Given the description of an element on the screen output the (x, y) to click on. 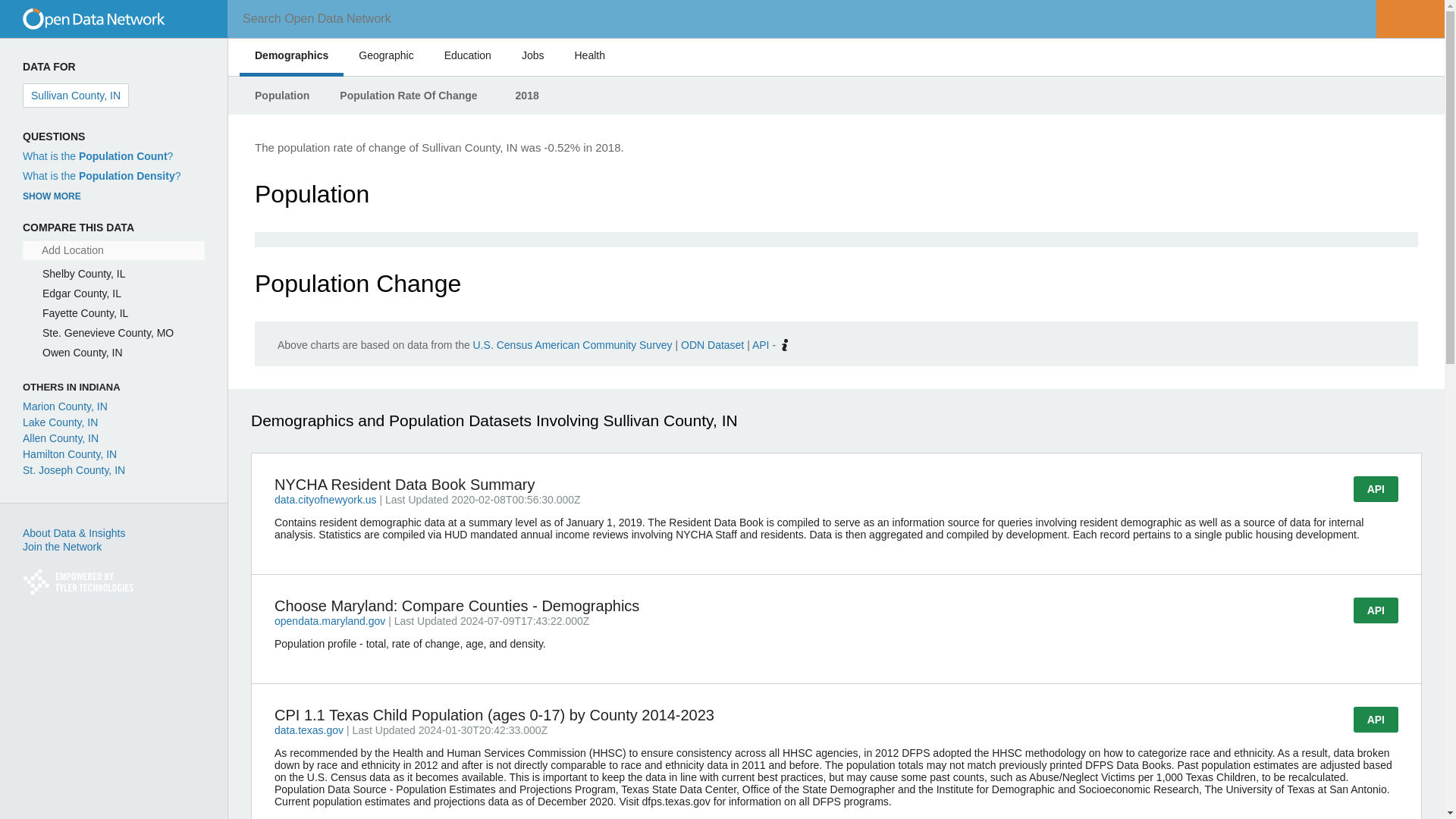
Allen County, IN (61, 438)
Shelby County, IL (83, 273)
Demographics (291, 55)
St. Joseph County, IN (74, 469)
What is the Population Density? (101, 175)
Marion County, IN (65, 406)
Owen County, IN (82, 352)
Lake County, IN (60, 422)
Health (590, 55)
Education (468, 55)
Geographic (385, 55)
Ste. Genevieve County, MO (107, 332)
Fayette County, IL (85, 313)
Hamilton County, IN (69, 453)
SHOW MORE (52, 195)
